Given the description of an element on the screen output the (x, y) to click on. 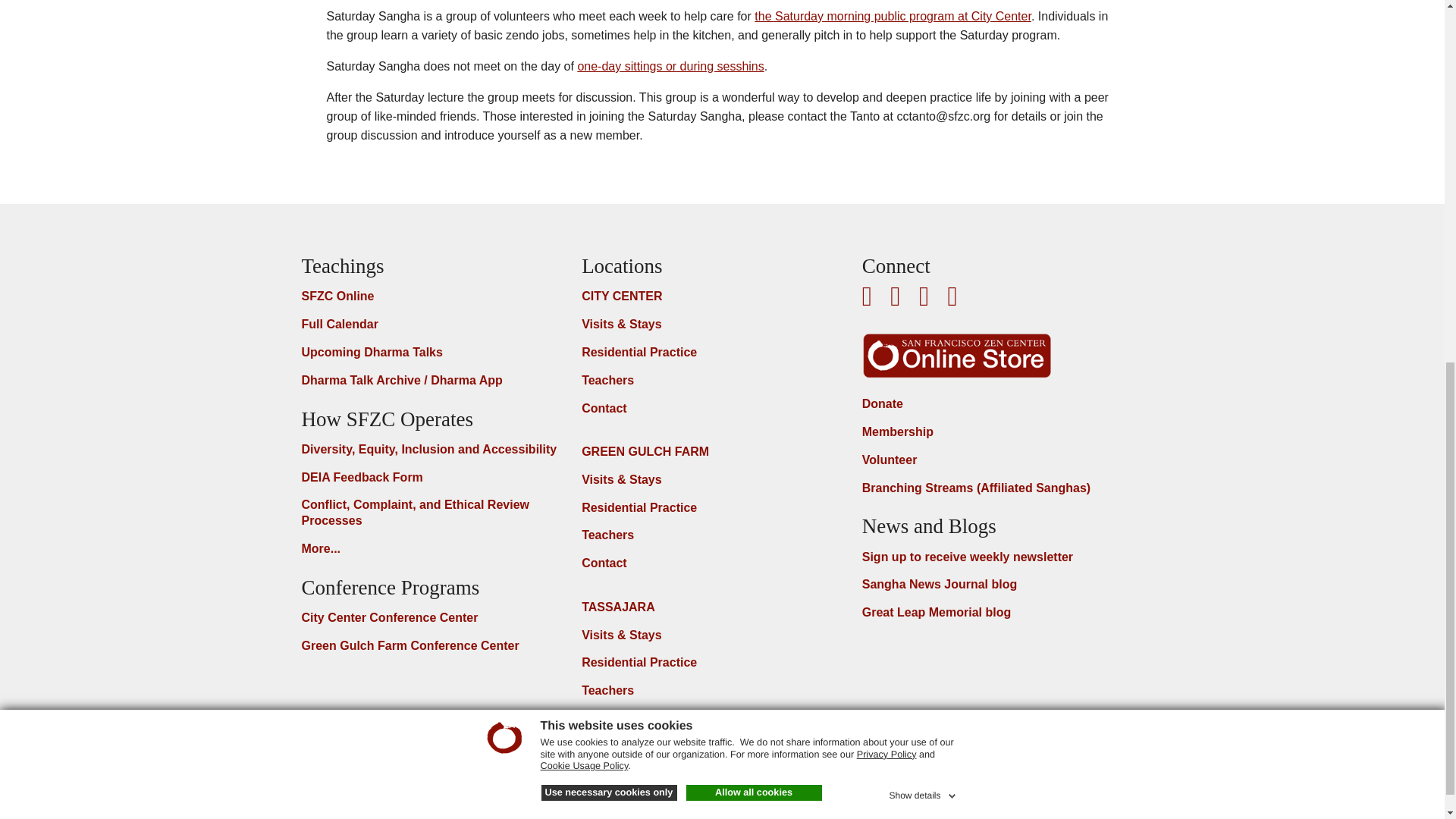
Show details (923, 126)
Cookie Usage Policy (583, 99)
Use necessary cookies only (609, 126)
Privacy Policy (887, 87)
Allow all cookies (753, 126)
